Given the description of an element on the screen output the (x, y) to click on. 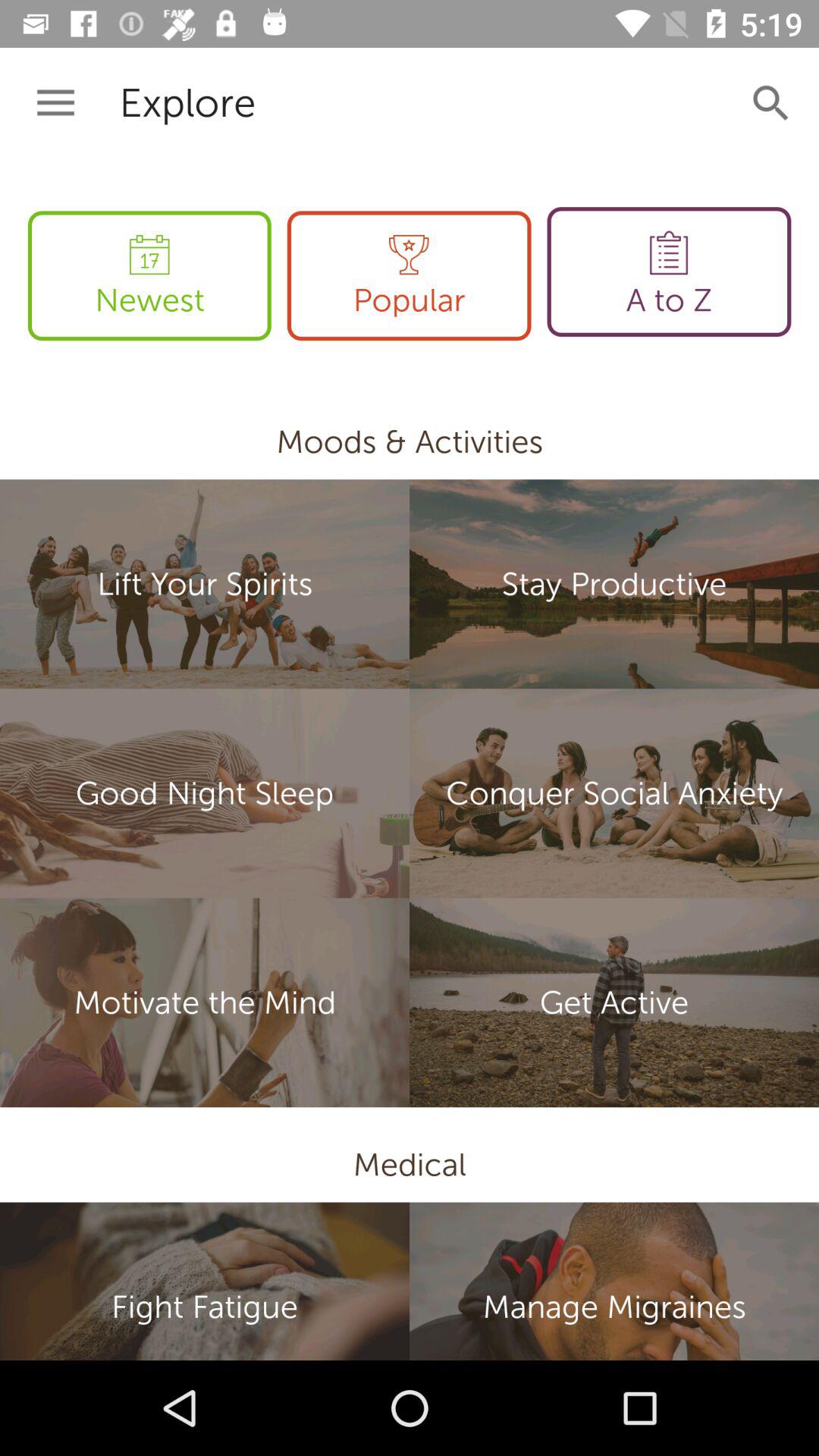
choose the popular item (409, 275)
